Given the description of an element on the screen output the (x, y) to click on. 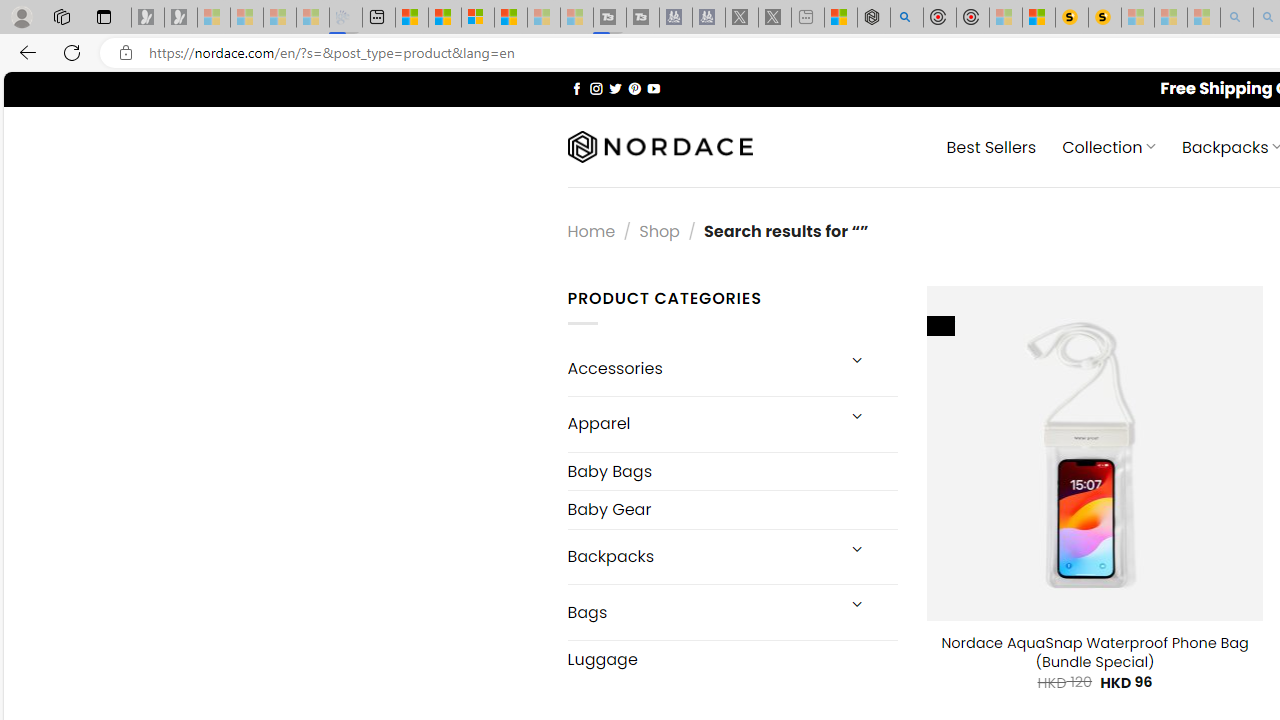
Follow on Instagram (596, 88)
Luggage (732, 659)
 Best Sellers (990, 146)
Luggage (732, 659)
Baby Gear (732, 510)
Refresh (72, 52)
amazon - Search - Sleeping (1237, 17)
Nordace AquaSnap Waterproof Phone Bag (Bundle Special) (1094, 652)
